Given the description of an element on the screen output the (x, y) to click on. 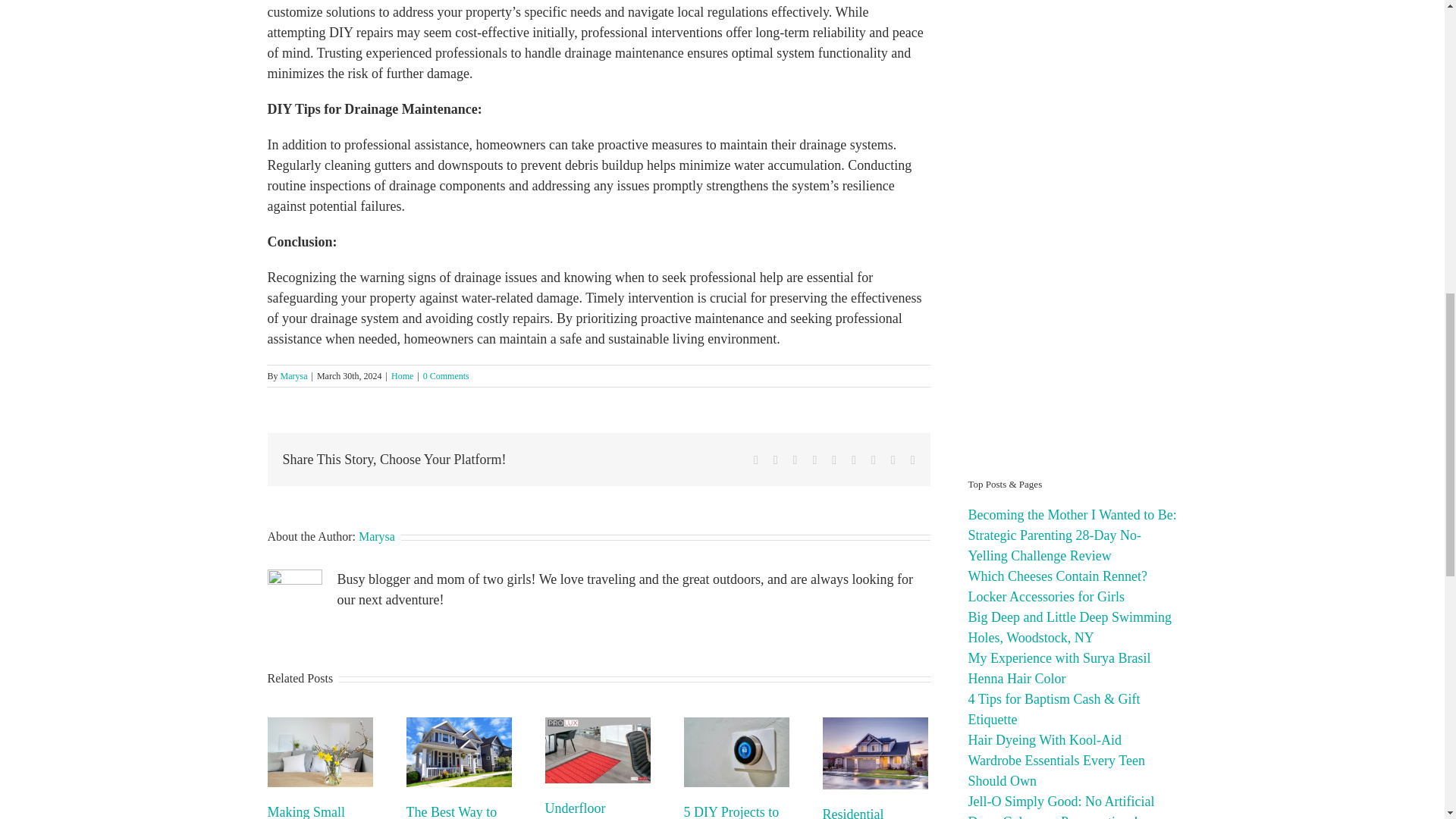
Posts by Marysa (294, 376)
